Given the description of an element on the screen output the (x, y) to click on. 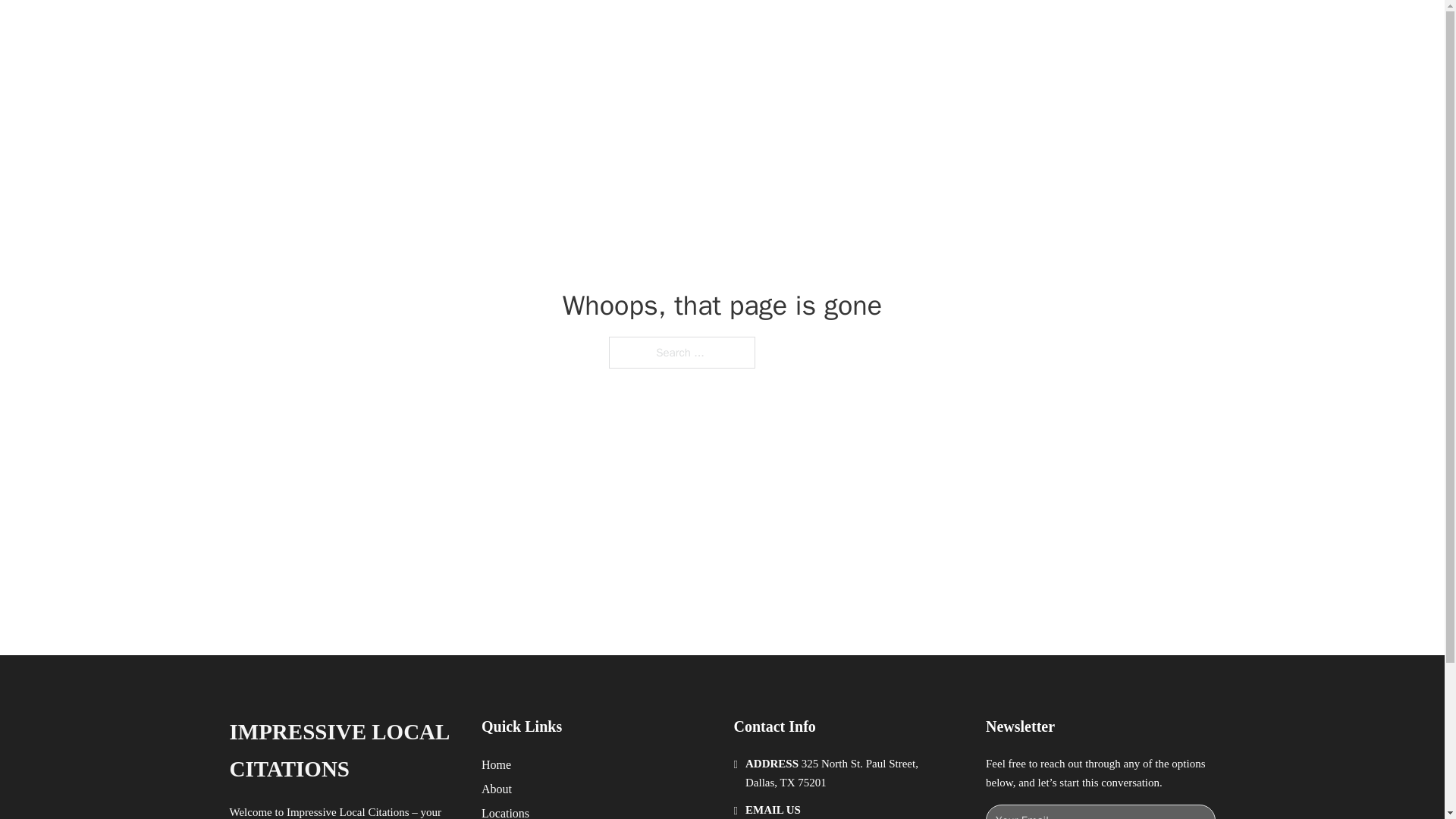
About (496, 788)
IMPRESSIVE LOCAL CITATIONS (458, 28)
HOME (919, 29)
Home (496, 764)
Locations (505, 811)
LOCATIONS (990, 29)
IMPRESSIVE LOCAL CITATIONS (343, 750)
